Given the description of an element on the screen output the (x, y) to click on. 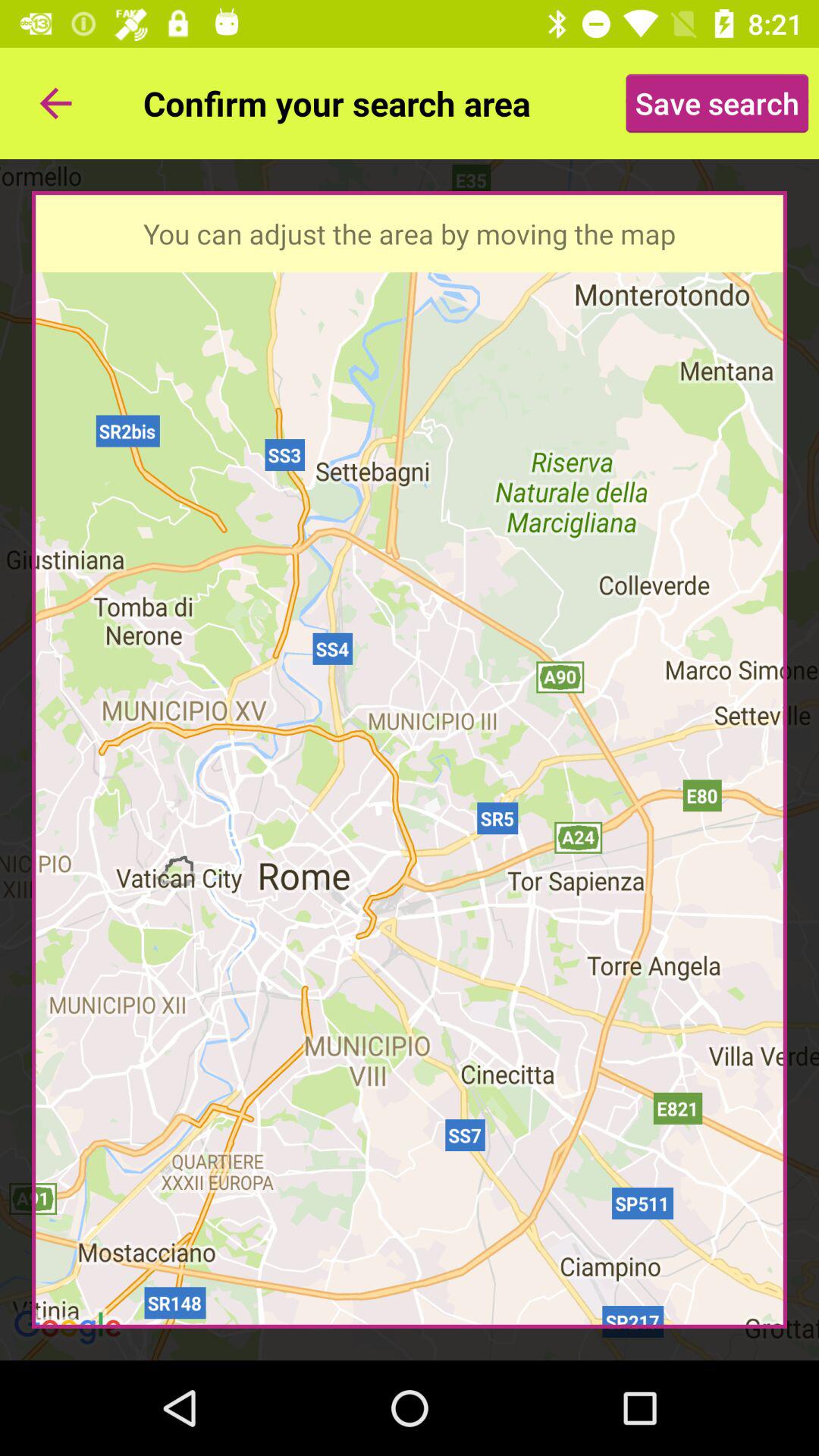
press icon to the right of the confirm your search icon (717, 103)
